Given the description of an element on the screen output the (x, y) to click on. 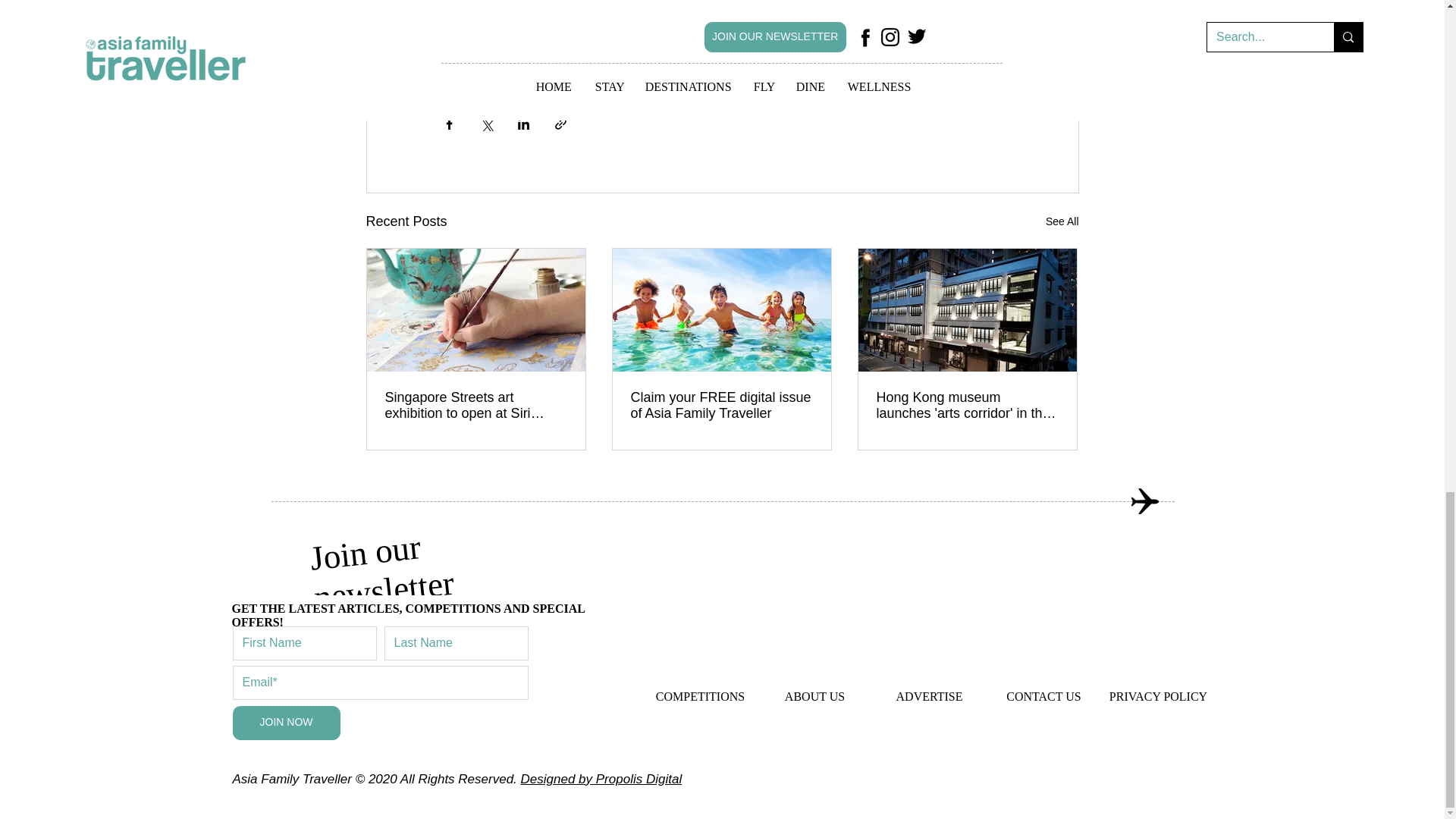
exhibition (618, 37)
historic (552, 37)
photography (480, 37)
historic Hong Kong (607, 66)
colonial Hong Kong (723, 66)
Lee Fook Chee (901, 37)
historic Singapore (493, 66)
Marjorie Doggett (799, 37)
photographers (700, 37)
